Given the description of an element on the screen output the (x, y) to click on. 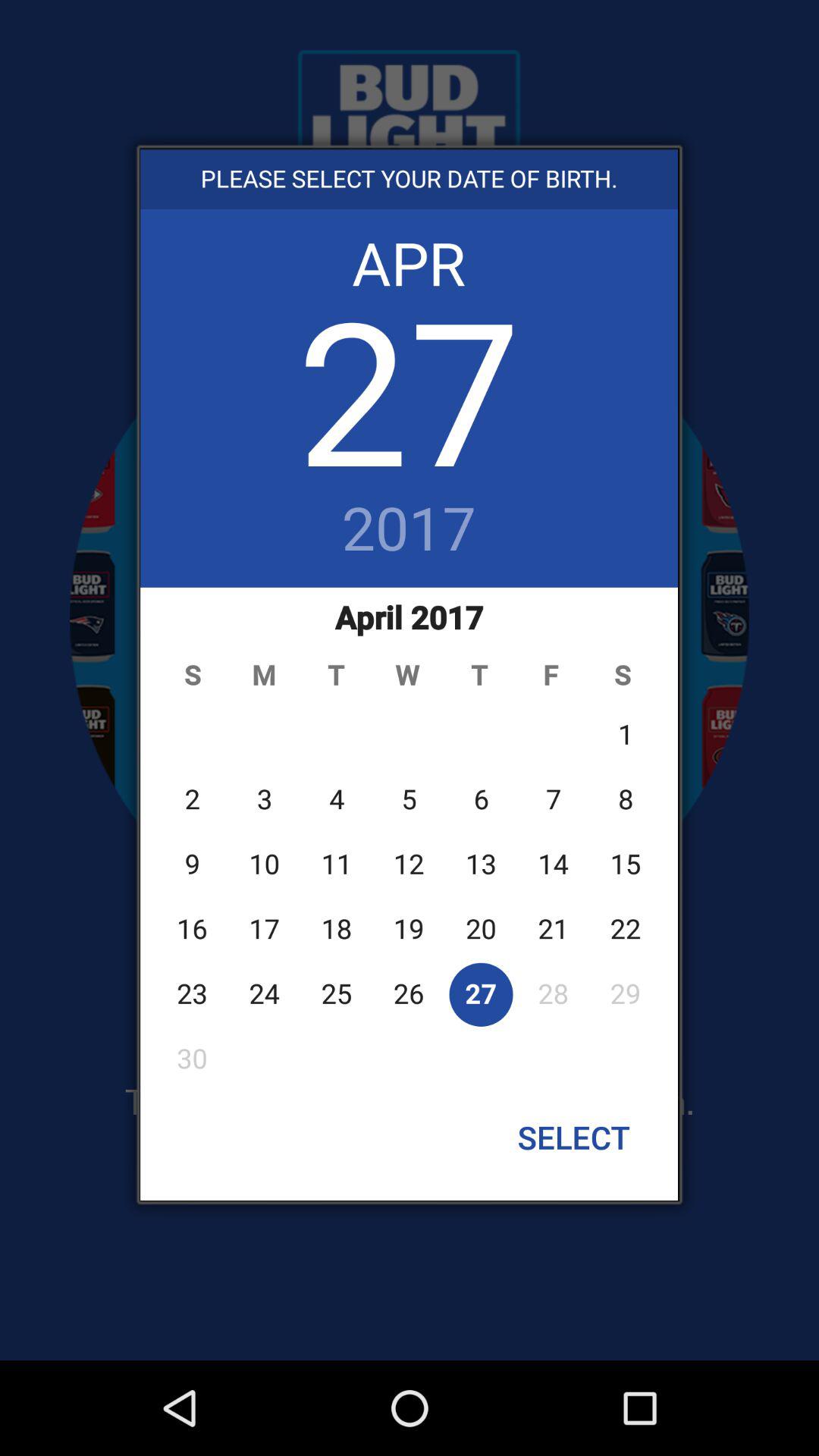
flip to the 2017 icon (408, 530)
